Given the description of an element on the screen output the (x, y) to click on. 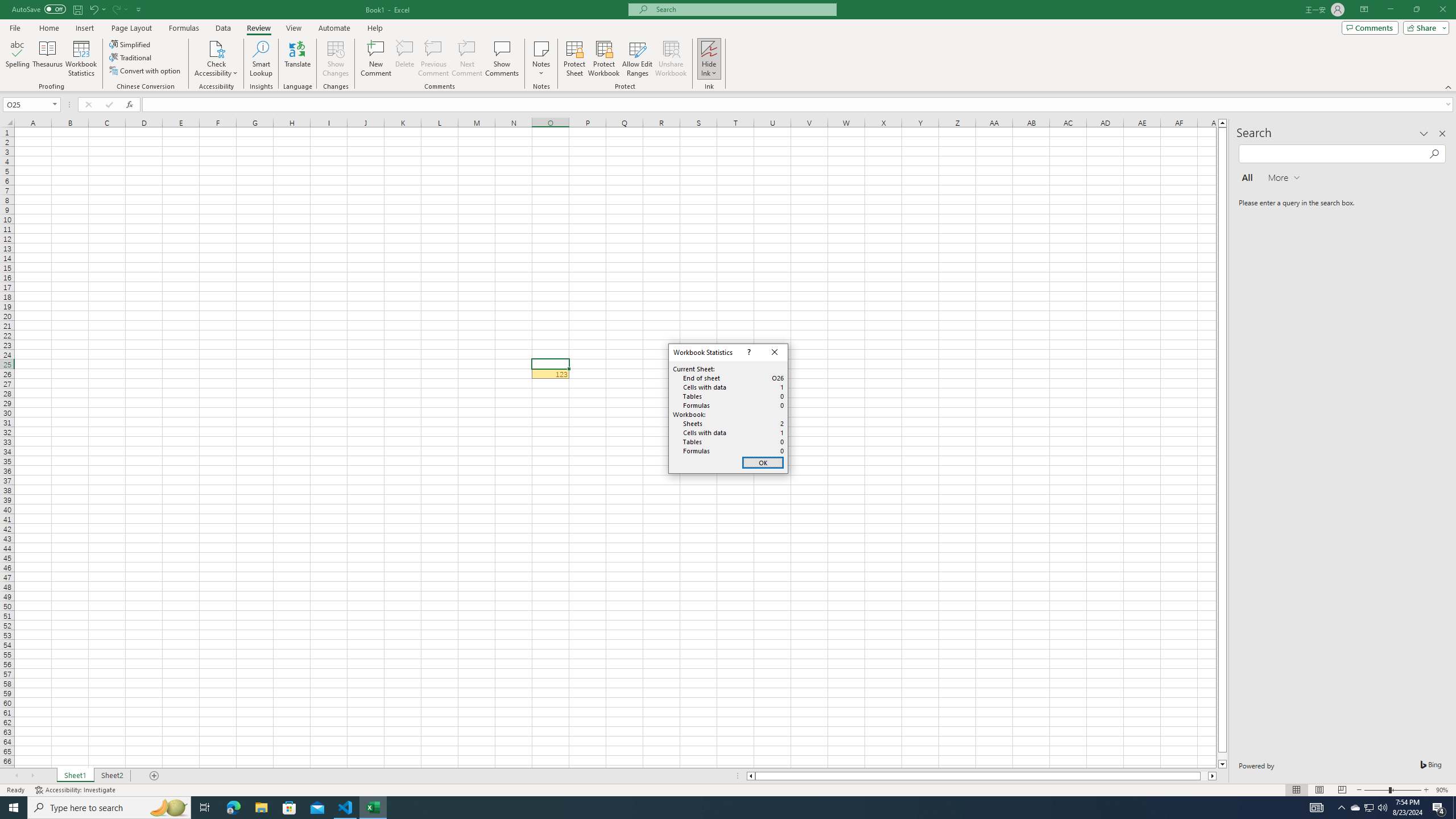
Simplified (130, 44)
Allow Edit Ranges (637, 58)
Undo (96, 9)
Zoom In (1426, 790)
Line down (1222, 764)
Page right (1204, 775)
File Tab (15, 27)
AutoSave (1368, 807)
Undo (38, 9)
Insert (92, 9)
Next Comment (83, 28)
